Given the description of an element on the screen output the (x, y) to click on. 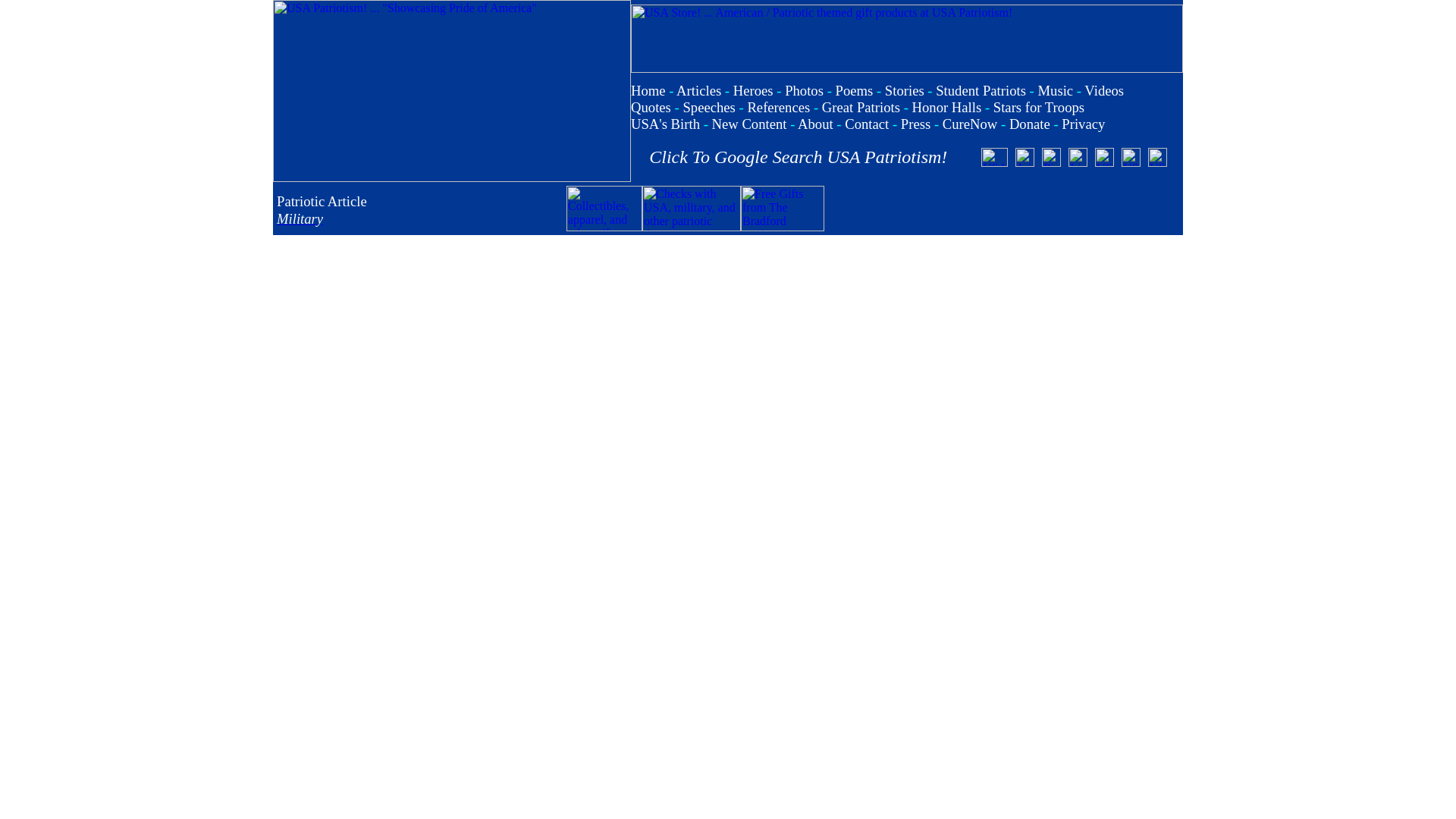
Videos (1104, 90)
Military (299, 218)
Stories (904, 90)
Quotes (650, 107)
Press (915, 123)
CureNow (969, 123)
Click To Google Search USA Patriotism! (798, 157)
Home (647, 90)
Contact (866, 123)
Honor Halls (946, 107)
Great Patriots (860, 107)
Music (1054, 90)
Stars for Troops (1038, 107)
Heroes (753, 90)
Privacy (1083, 123)
